Given the description of an element on the screen output the (x, y) to click on. 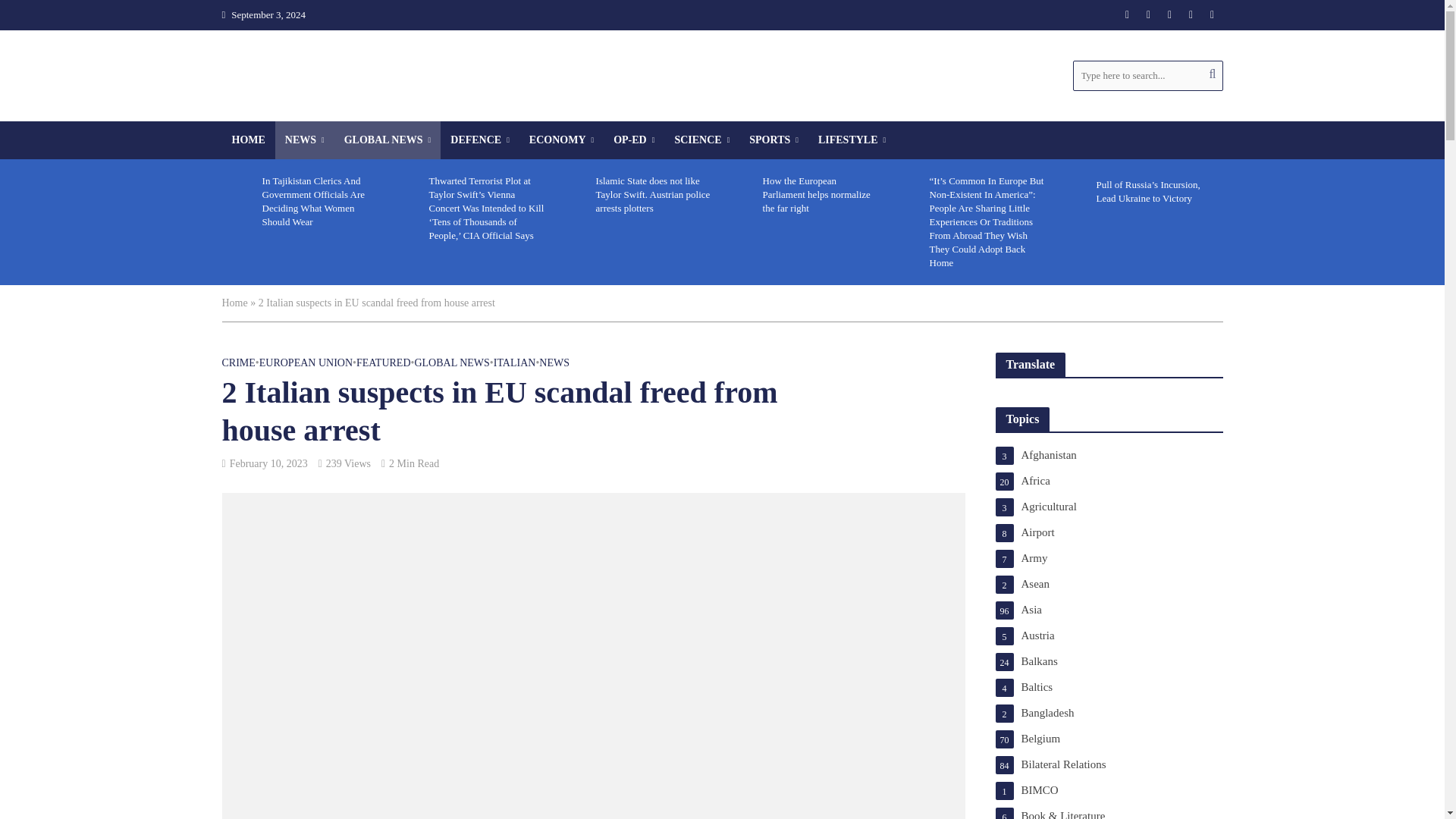
NEWS (304, 139)
GLOBAL NEWS (387, 139)
HOME (248, 139)
